Given the description of an element on the screen output the (x, y) to click on. 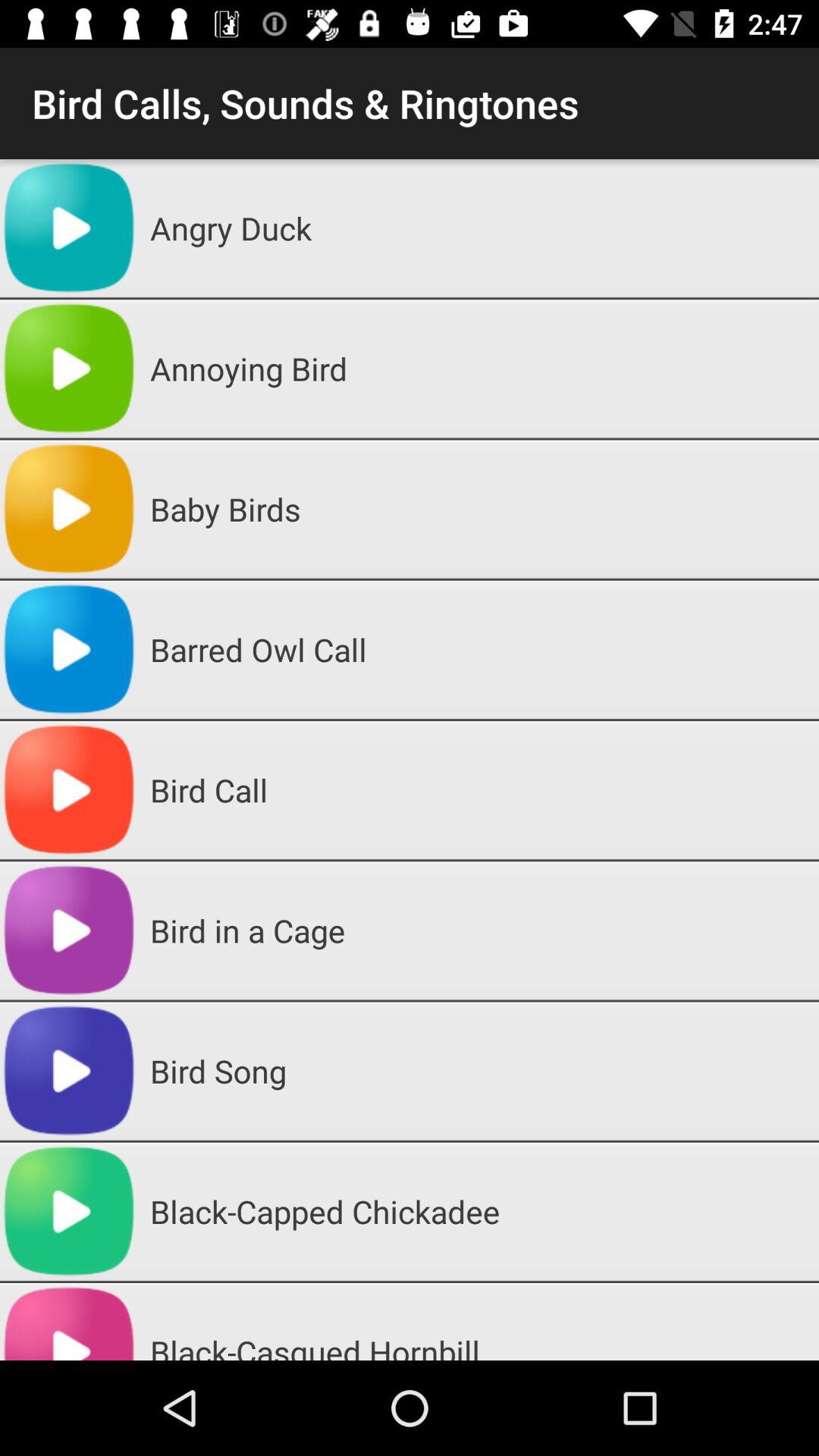
tap the bird call icon (478, 790)
